Given the description of an element on the screen output the (x, y) to click on. 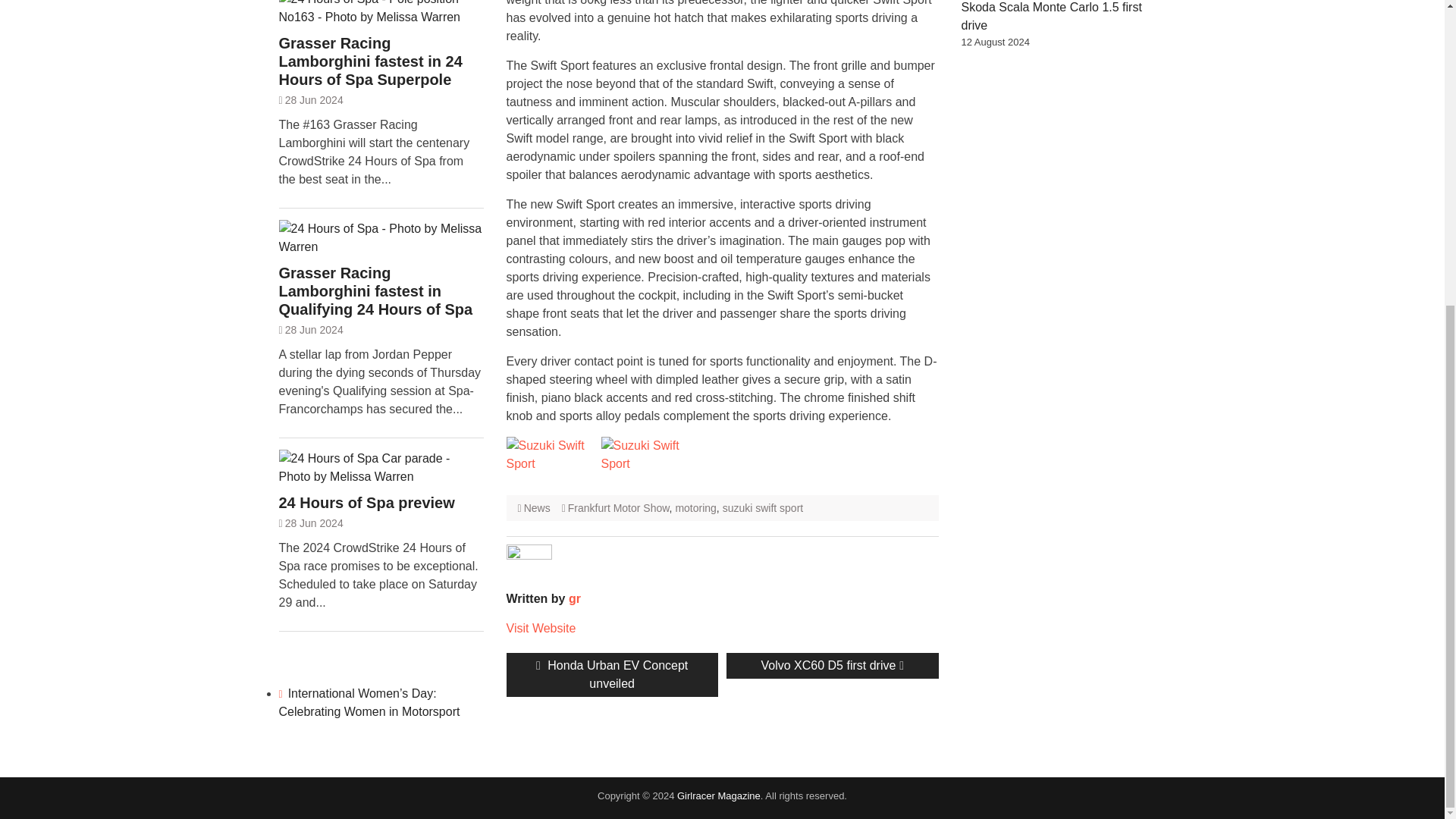
Skoda Scala Monte Carlo 1.5 first drive (1050, 15)
Posts by gr (574, 598)
suzuki swift sport (831, 665)
gr (762, 508)
Visit Website (611, 674)
Frankfurt Motor Show (574, 598)
News (541, 627)
motoring (618, 508)
